Given the description of an element on the screen output the (x, y) to click on. 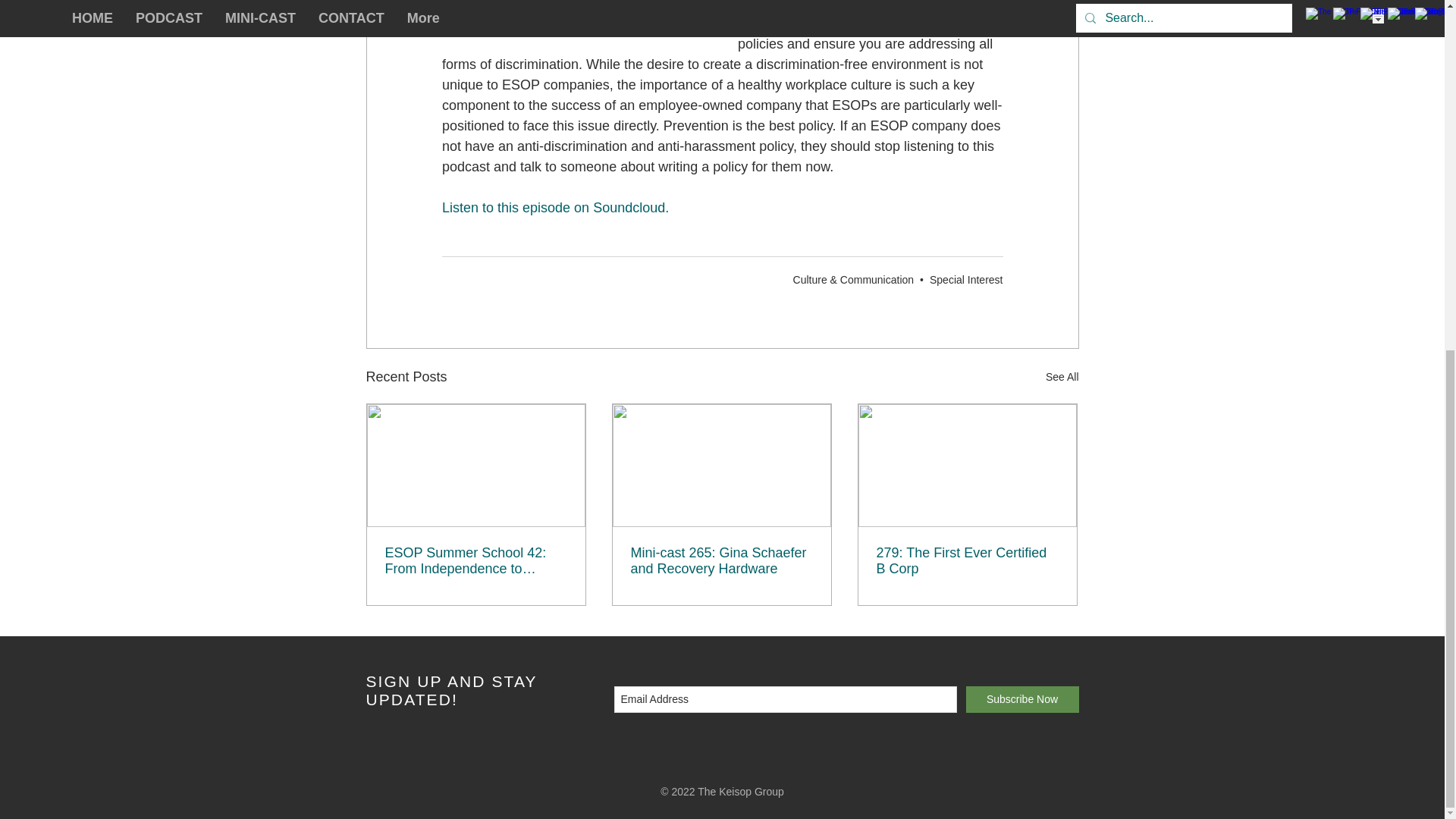
The Keisop Group (740, 791)
279: The First Ever Certified B Corp (967, 561)
Mini-cast 265: Gina Schaefer and Recovery Hardware (721, 561)
Listen to this episode on Soundcloud. (554, 207)
Special Interest (966, 278)
ESOP Summer School 42: From Independence to Interdependence (476, 561)
See All (1061, 377)
Subscribe Now (1022, 699)
